Given the description of an element on the screen output the (x, y) to click on. 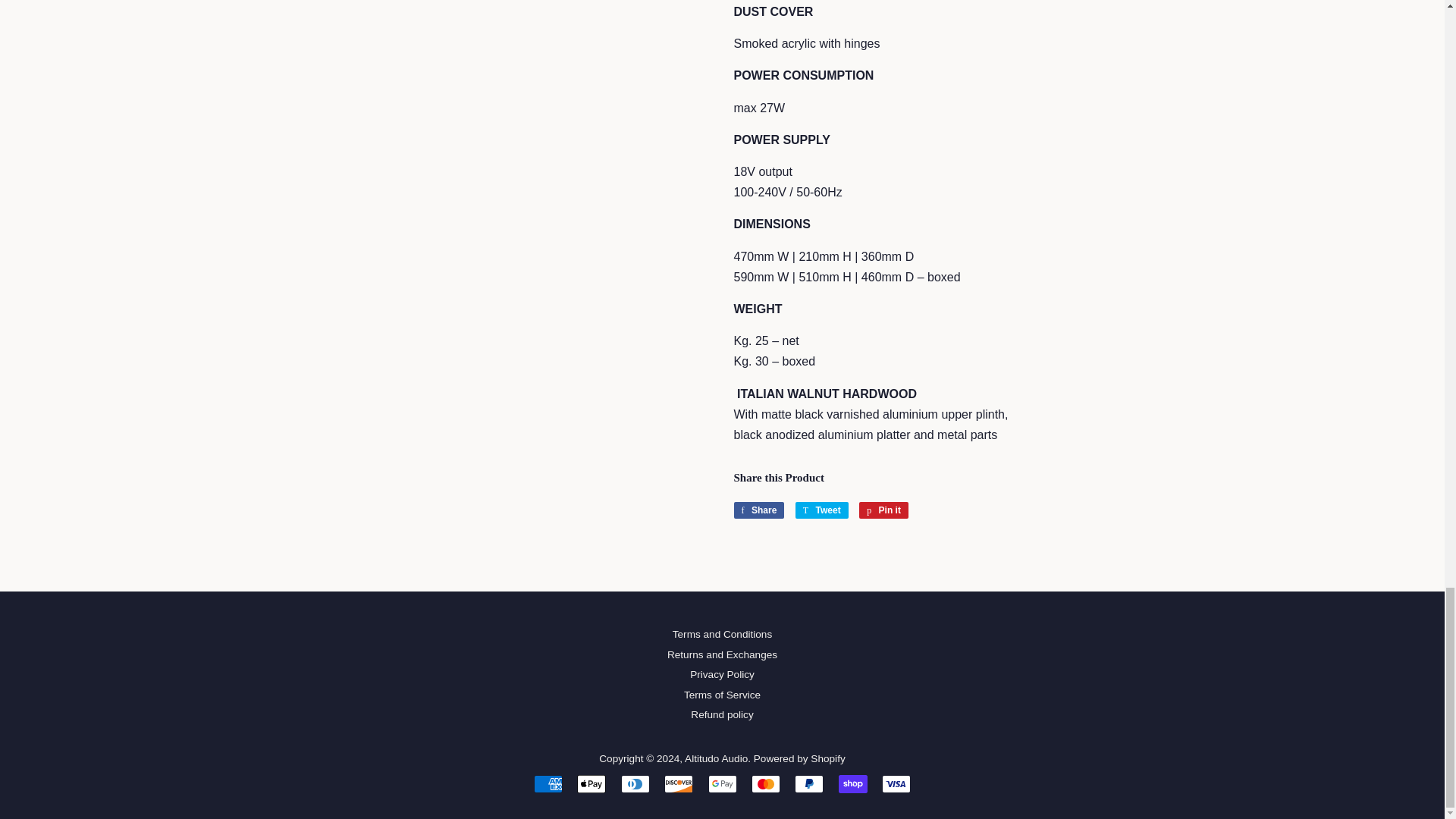
Tweet on Twitter (821, 510)
Discover (678, 783)
PayPal (809, 783)
Visa (896, 783)
Pin on Pinterest (883, 510)
Apple Pay (590, 783)
Mastercard (765, 783)
Shop Pay (852, 783)
American Express (548, 783)
Diners Club (635, 783)
Share on Facebook (758, 510)
Google Pay (721, 783)
